Given the description of an element on the screen output the (x, y) to click on. 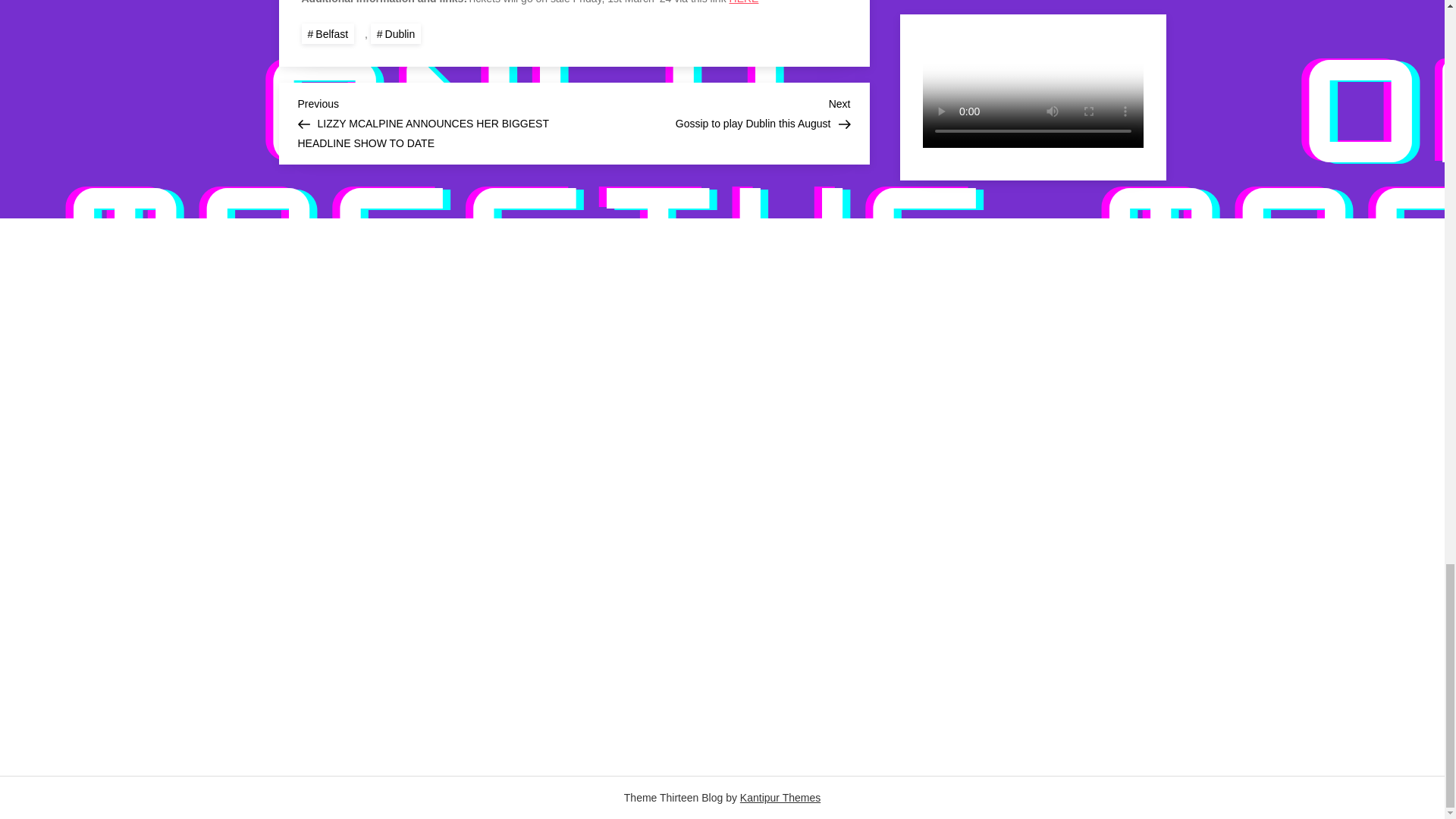
HERE (743, 2)
Kantipur Themes (780, 797)
Belfast (328, 33)
Moon (1032, 488)
Dublin (396, 33)
